Given the description of an element on the screen output the (x, y) to click on. 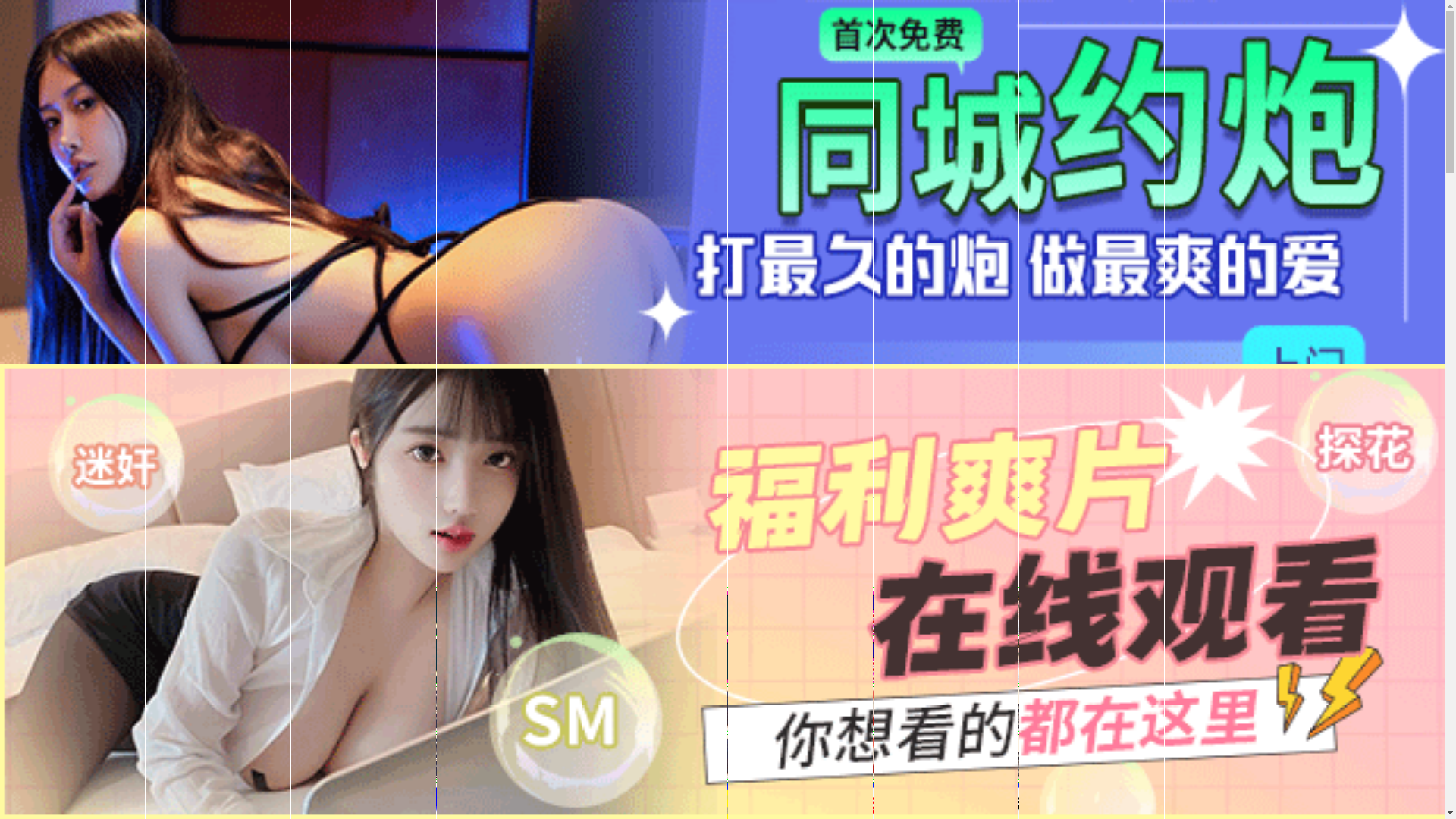
6866 Element type: hover (721, 584)
